Given the description of an element on the screen output the (x, y) to click on. 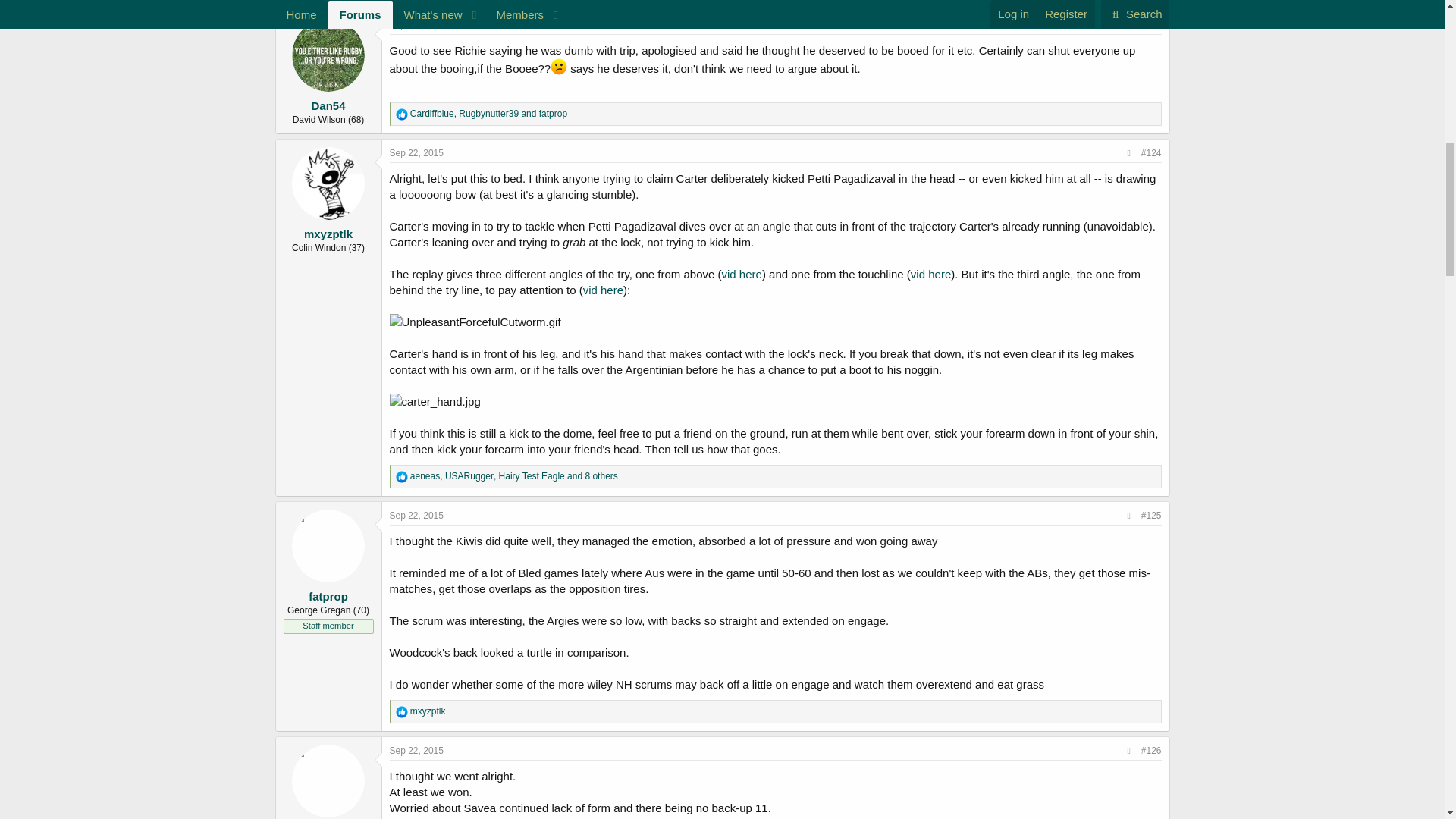
Sep 22, 2015 at 5:32 AM (417, 24)
Sep 22, 2015 at 5:53 AM (417, 153)
Confused    :confused: (558, 66)
Like (401, 114)
UnpleasantForcefulCutworm.gif (475, 321)
